Given the description of an element on the screen output the (x, y) to click on. 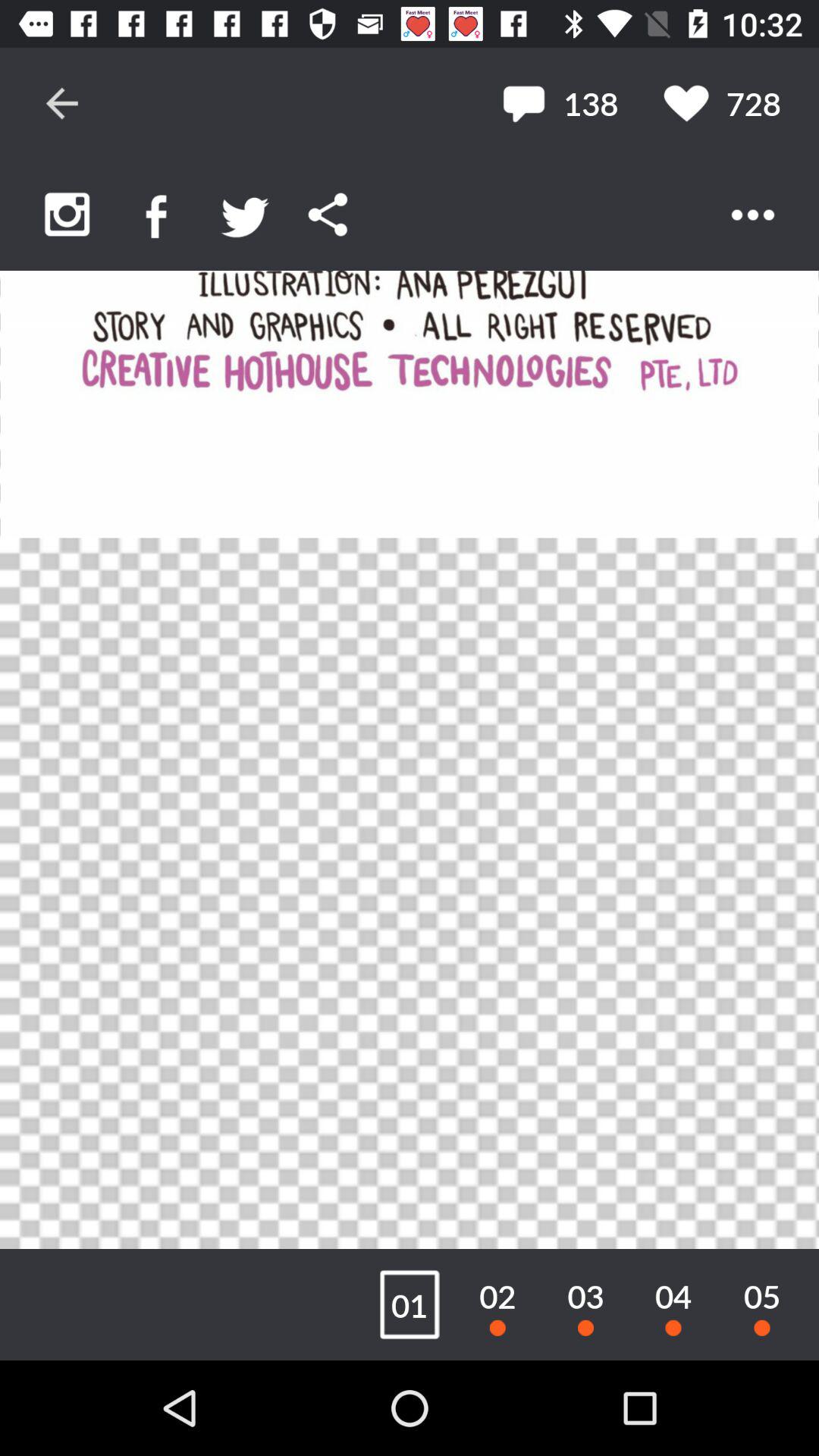
open twitter page (245, 214)
